Given the description of an element on the screen output the (x, y) to click on. 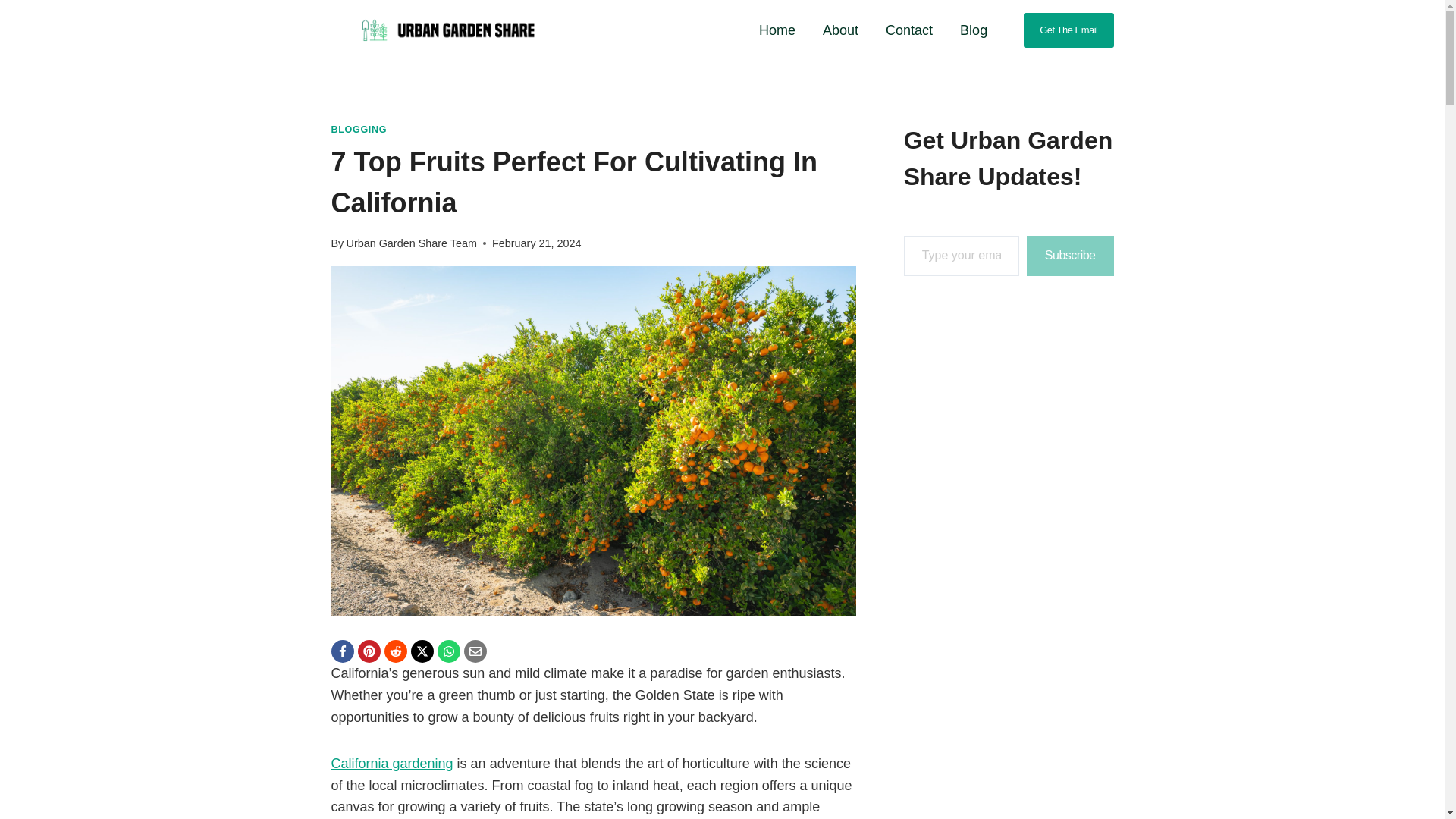
California gardening (391, 763)
Get The Email (1068, 30)
Home (777, 30)
Blog (973, 30)
About (840, 30)
BLOGGING (358, 129)
Urban Garden Share Team (411, 243)
Contact (909, 30)
